Given the description of an element on the screen output the (x, y) to click on. 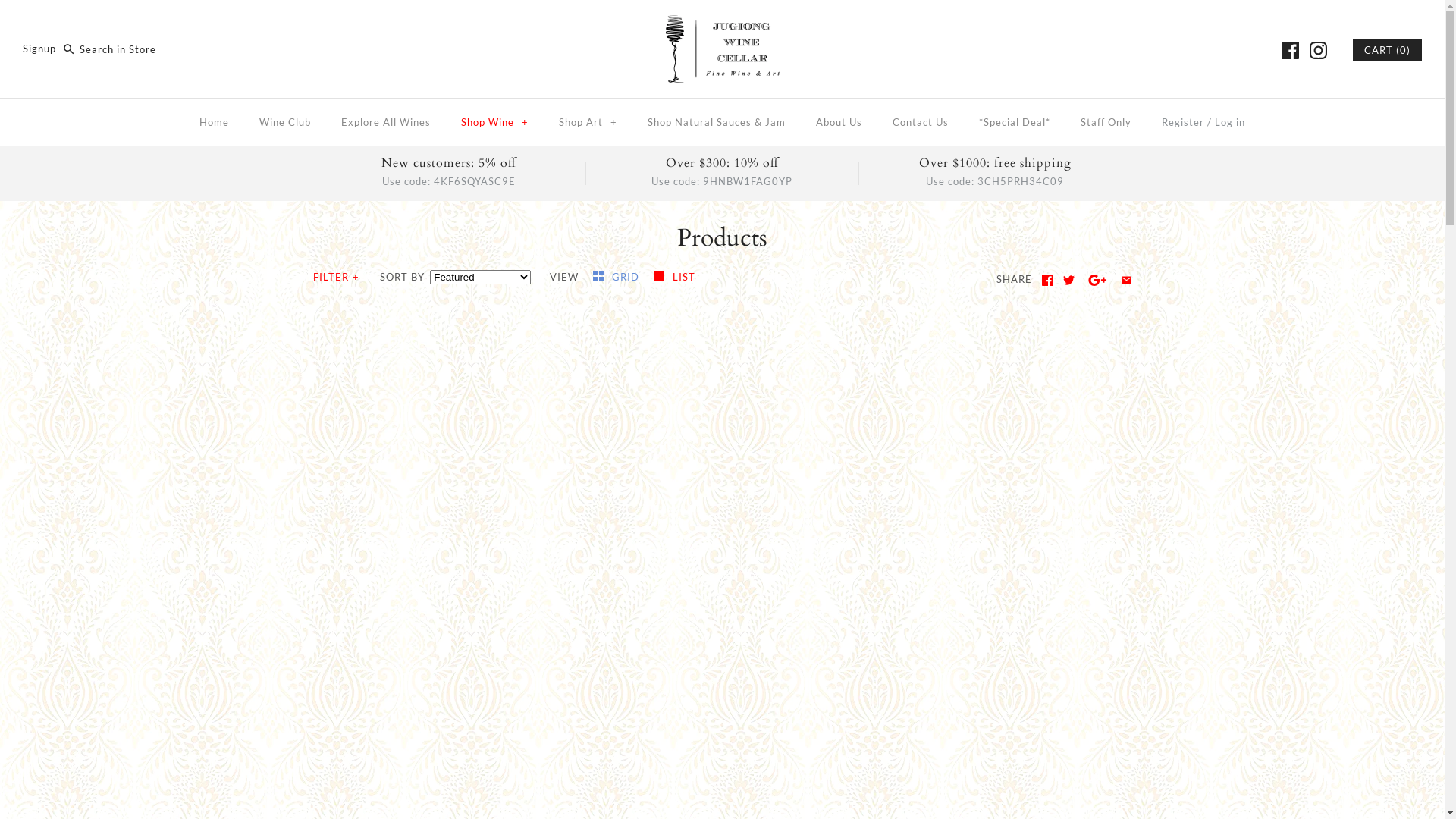
LIST Element type: text (674, 276)
Over $300: 10% off
Use code: 9HNBW1FAG0YP Element type: text (721, 171)
Shop Natural Sauces & Jam Element type: text (716, 121)
Signup Element type: text (39, 48)
Add to Cart Element type: text (871, 703)
Register Element type: text (1182, 121)
Jugiong Wine Cellar Element type: hover (722, 24)
Add to Cart Element type: text (871, 761)
Staff Only Element type: text (1105, 121)
Over $1000: free shipping
Use code: 3CH5PRH34C09 Element type: text (994, 171)
Home Element type: text (213, 121)
CART (0) Element type: text (1386, 50)
Wine Club Element type: text (284, 121)
Log in Element type: text (1229, 121)
FILTER + Element type: text (336, 277)
Add to Cart Element type: text (871, 732)
New customers: 5% off
Use code: 4KF6SQYASC9E Element type: text (448, 171)
Twitter Element type: text (1068, 279)
*Special Deal* Element type: text (1014, 121)
GRID Element type: text (617, 276)
Contact Us Element type: text (920, 121)
About Us Element type: text (838, 121)
Shop Art + Element type: text (587, 121)
Shop Wine + Element type: text (494, 121)
Facebook Element type: text (1047, 279)
GooglePlus Element type: text (1097, 279)
Explore All Wines Element type: text (385, 121)
Instagram Element type: text (1318, 50)
Email Element type: text (1126, 279)
Facebook Element type: text (1290, 50)
